Given the description of an element on the screen output the (x, y) to click on. 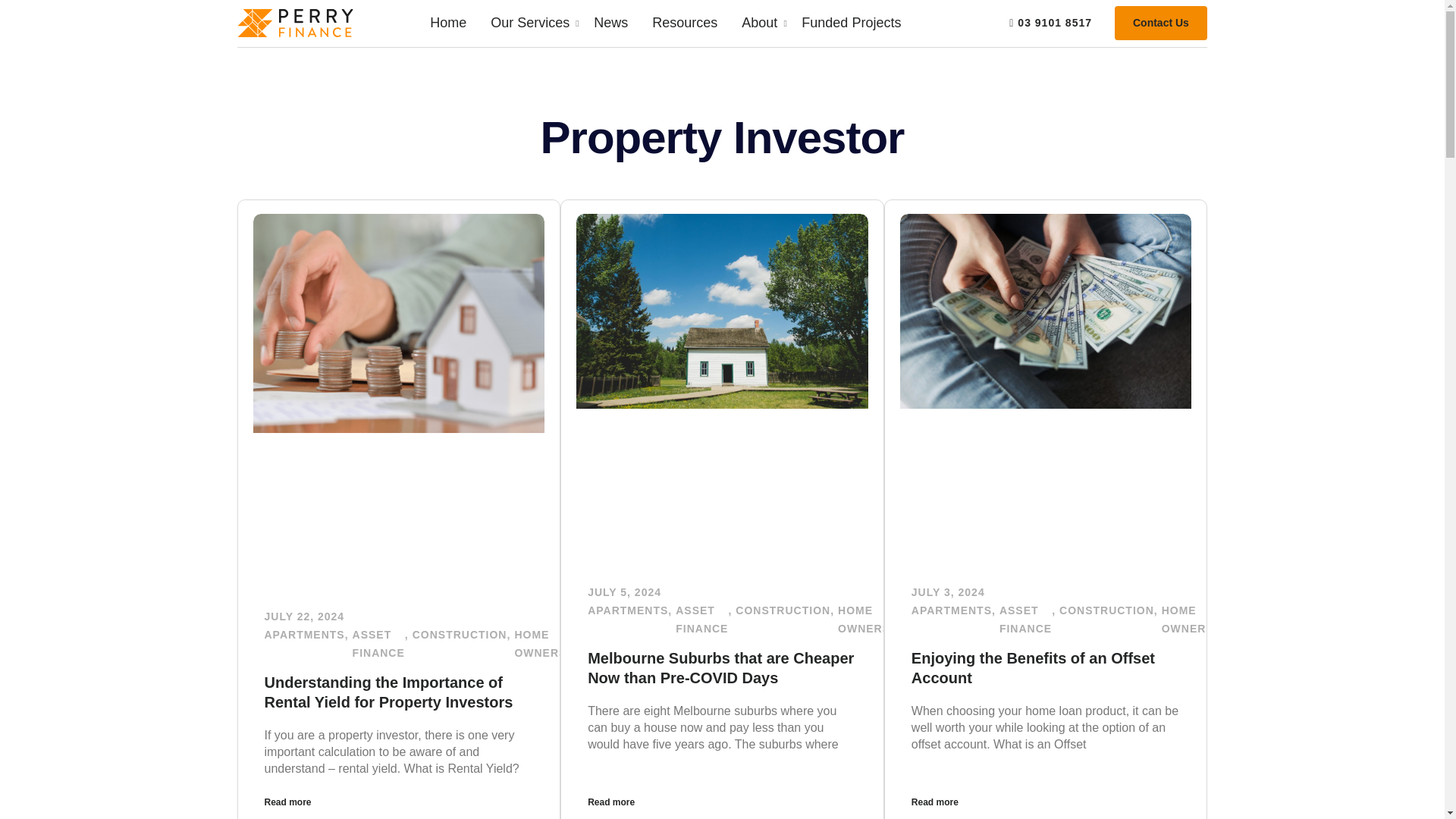
Contact Us (665, 23)
03 9101 8517 (1161, 22)
